Given the description of an element on the screen output the (x, y) to click on. 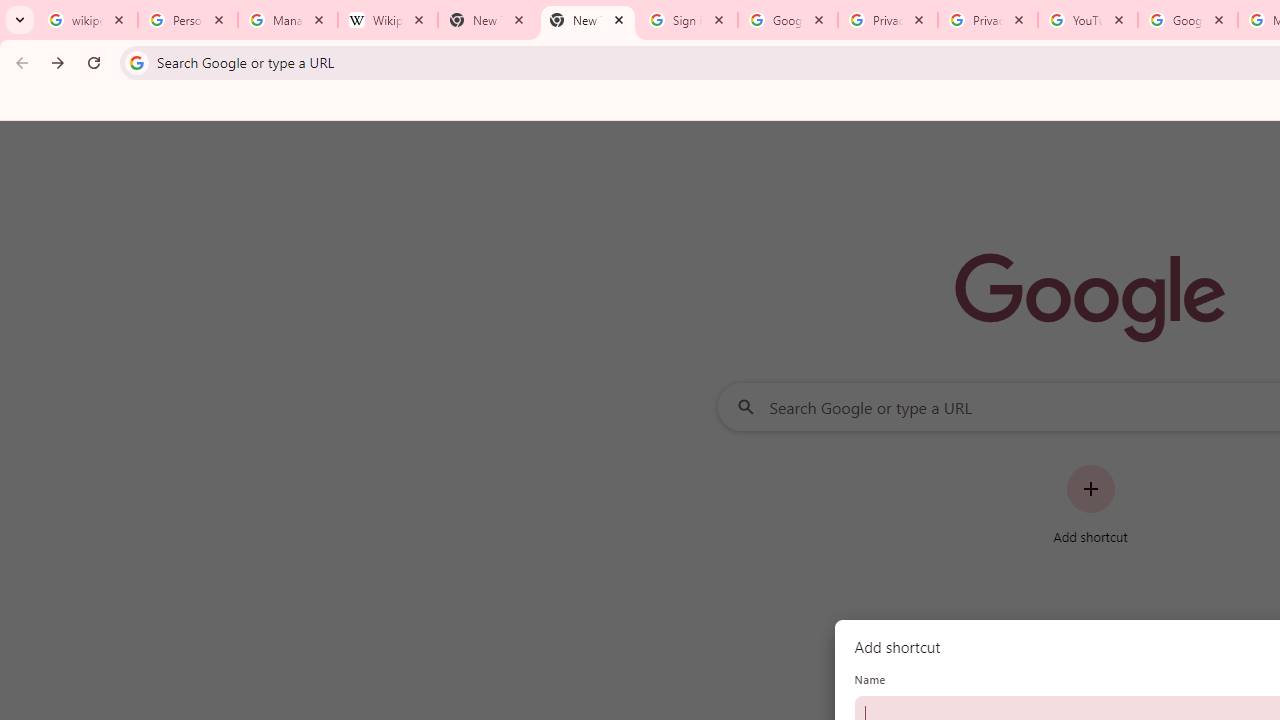
Google Drive: Sign-in (788, 20)
Sign in - Google Accounts (687, 20)
New Tab (587, 20)
